Given the description of an element on the screen output the (x, y) to click on. 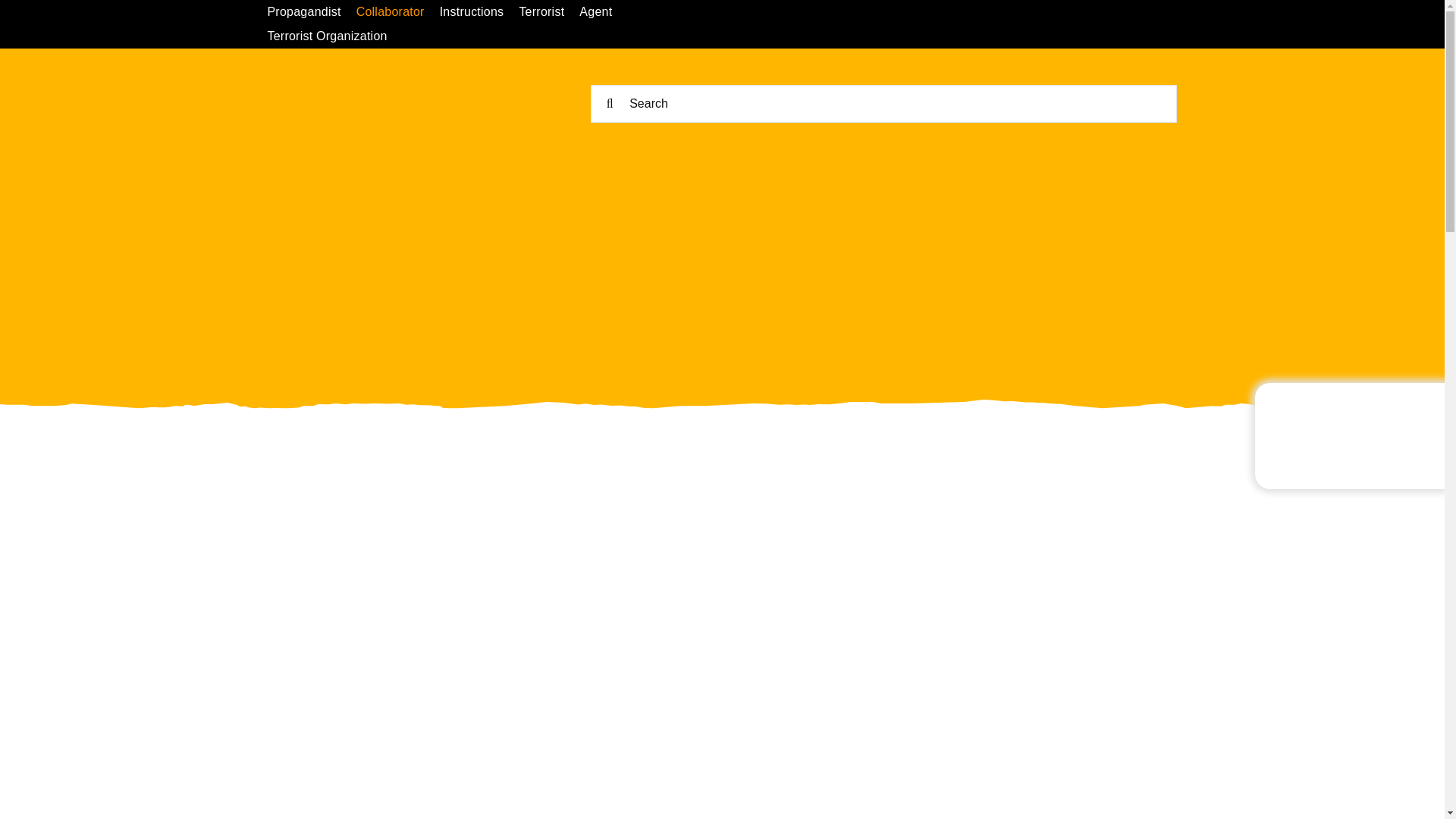
Agent (603, 12)
Collaborator (397, 12)
Instructions (479, 12)
Terrorist (548, 12)
Propagandist (310, 12)
Terrorist Organization (333, 36)
